Given the description of an element on the screen output the (x, y) to click on. 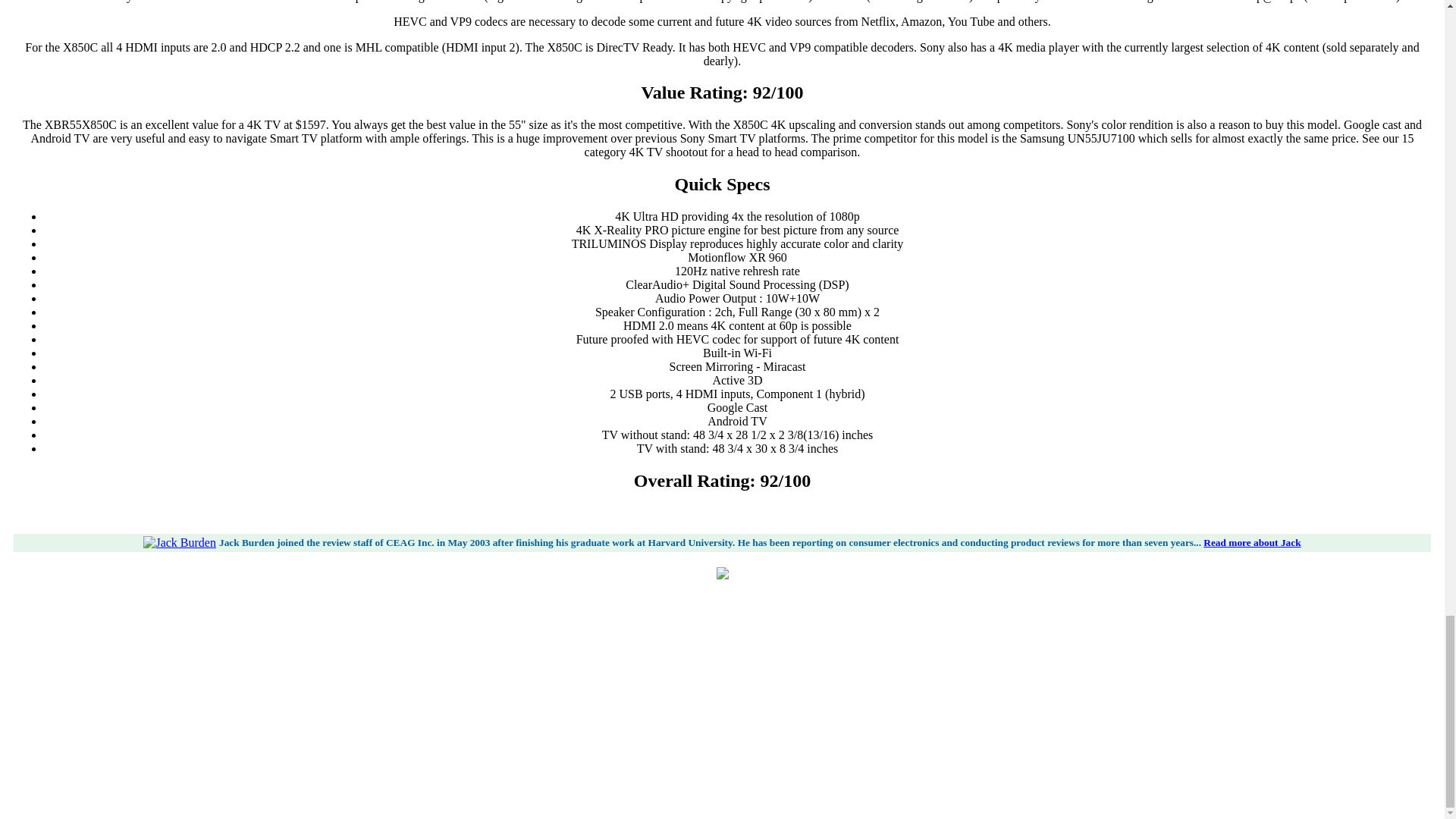
Jack Burden (178, 542)
Read more about Jack (1252, 542)
